Given the description of an element on the screen output the (x, y) to click on. 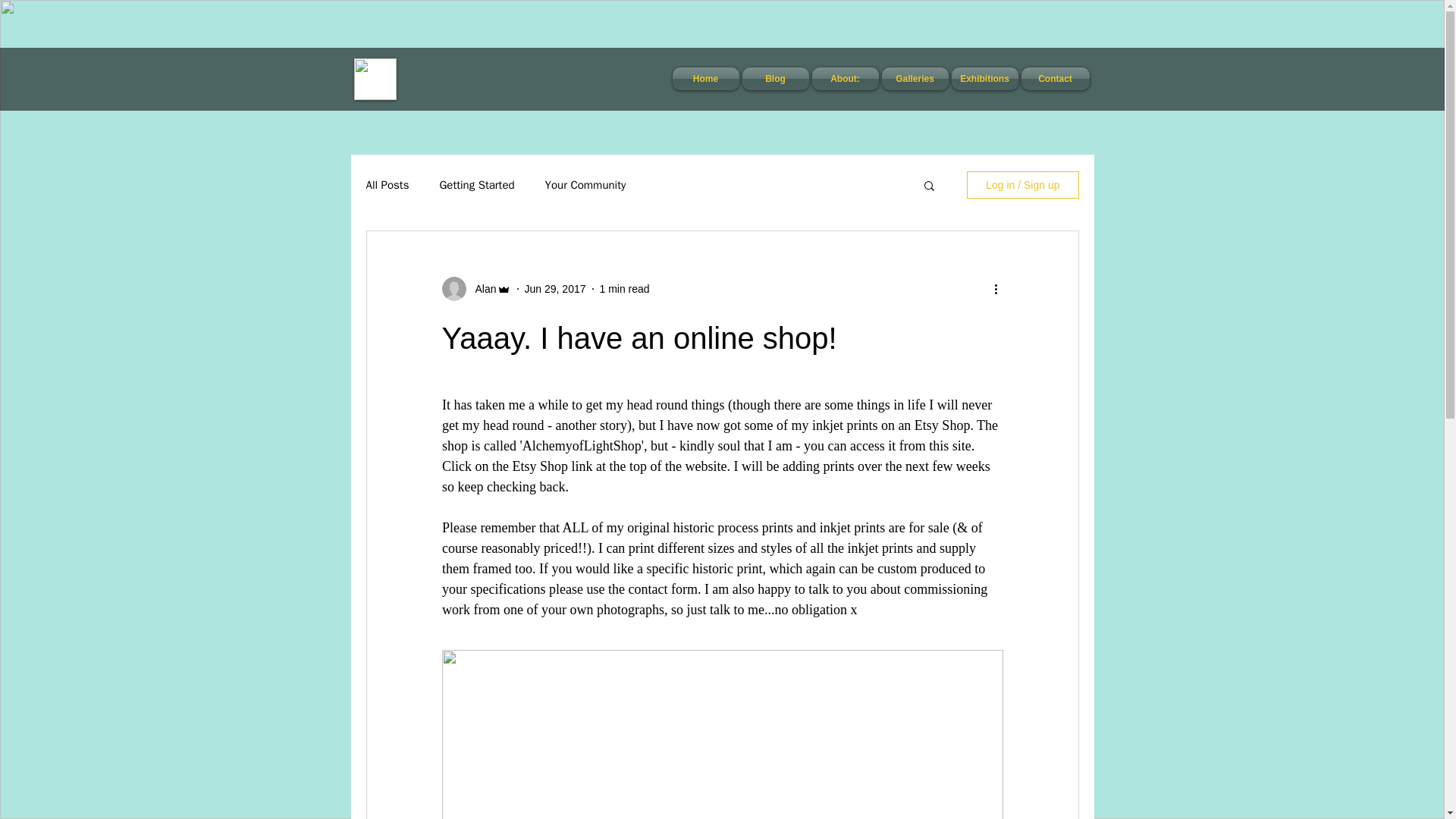
Jun 29, 2017 (555, 287)
Blog (774, 78)
Alan  (480, 288)
Contact (1054, 78)
Getting Started (476, 184)
All Posts (387, 184)
1 min read (623, 287)
Exhibitions (984, 78)
Your Community (585, 184)
Home (704, 78)
